Given the description of an element on the screen output the (x, y) to click on. 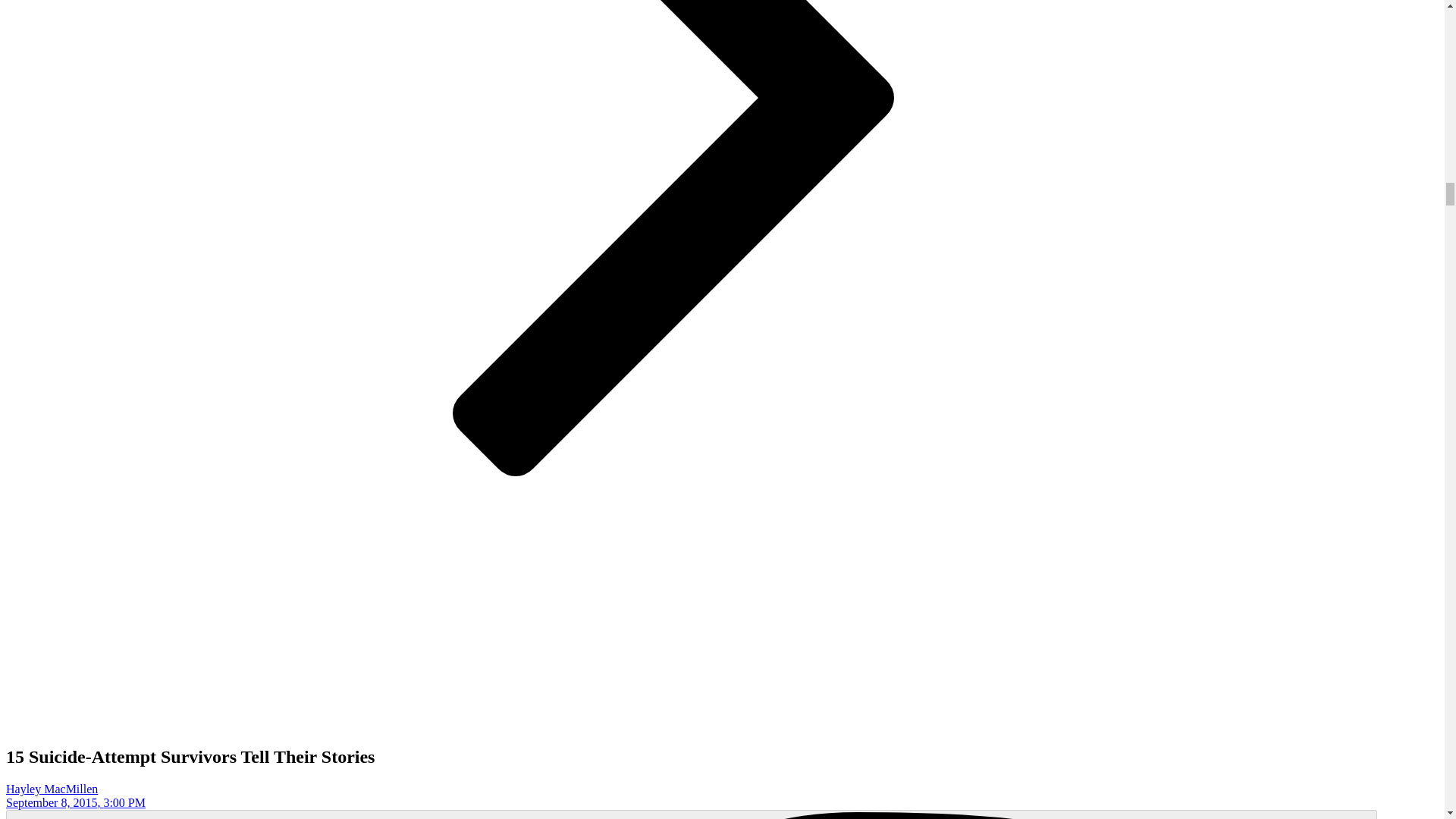
Hayley MacMillen (51, 788)
September 8, 2015, 3:00 PM (75, 802)
